Given the description of an element on the screen output the (x, y) to click on. 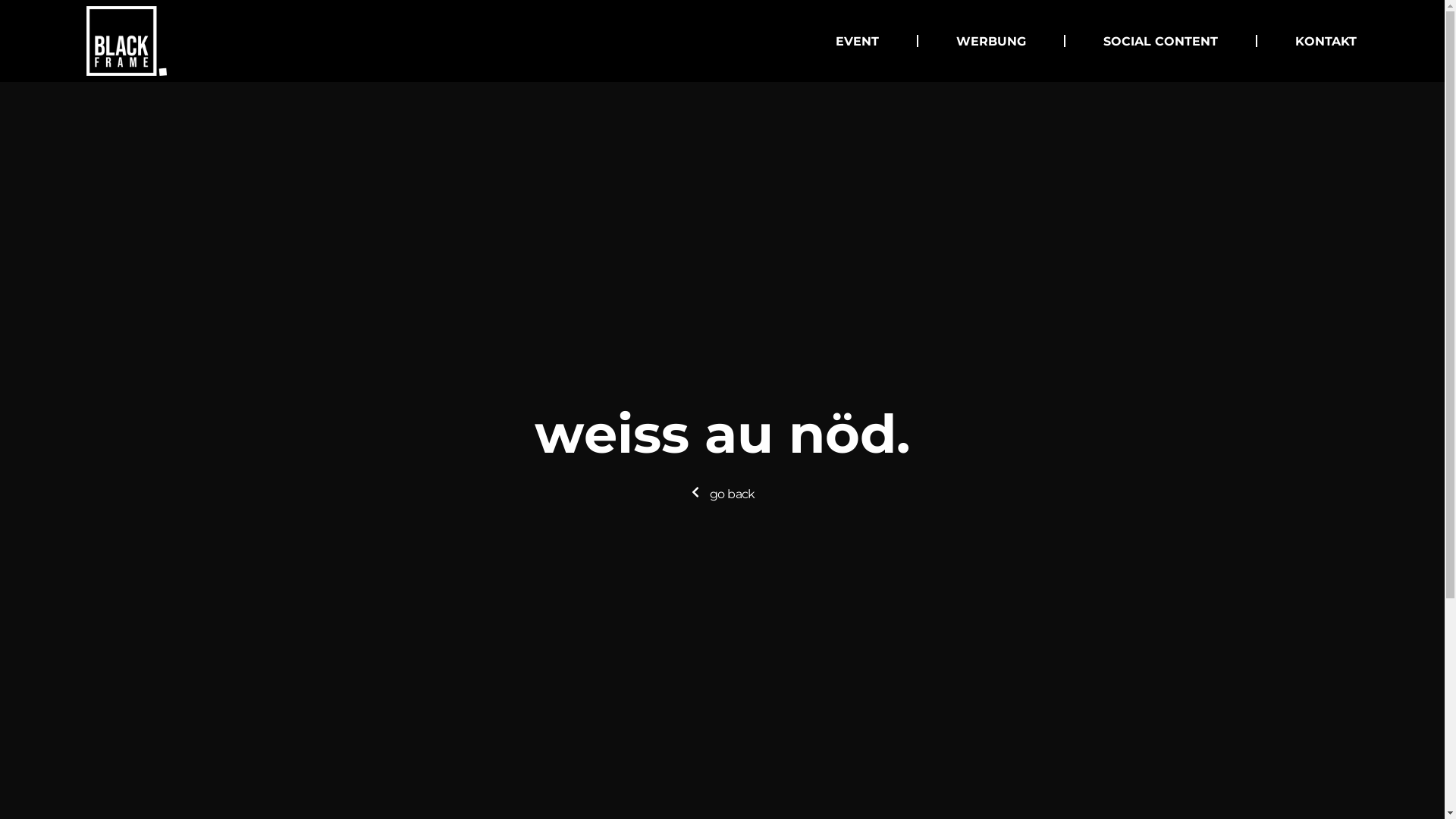
WERBUNG Element type: text (991, 41)
SOCIAL CONTENT Element type: text (1160, 41)
EVENT Element type: text (856, 41)
KONTAKT Element type: text (1325, 41)
go back Element type: text (722, 494)
